Given the description of an element on the screen output the (x, y) to click on. 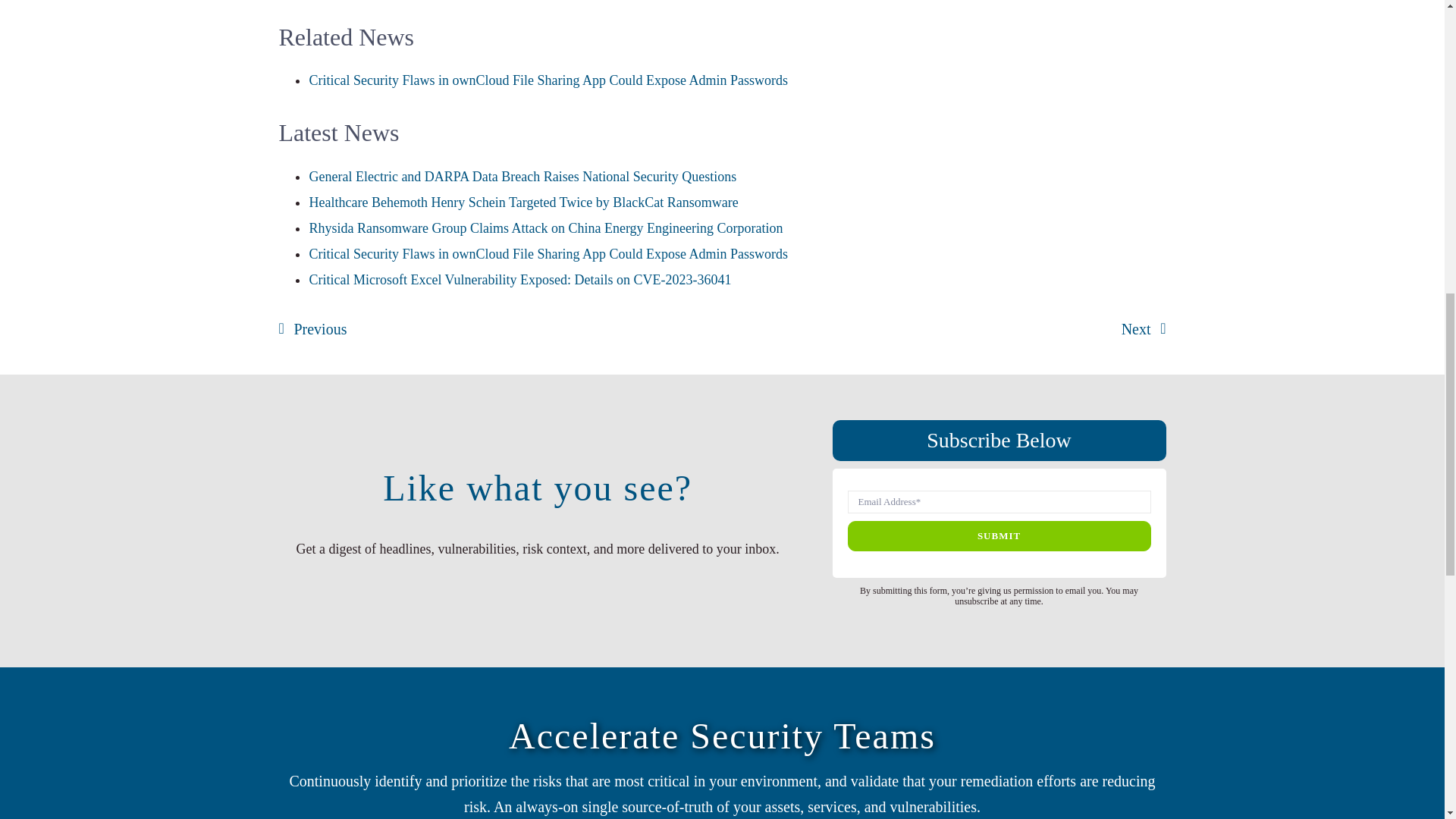
SUBMIT (999, 523)
